Given the description of an element on the screen output the (x, y) to click on. 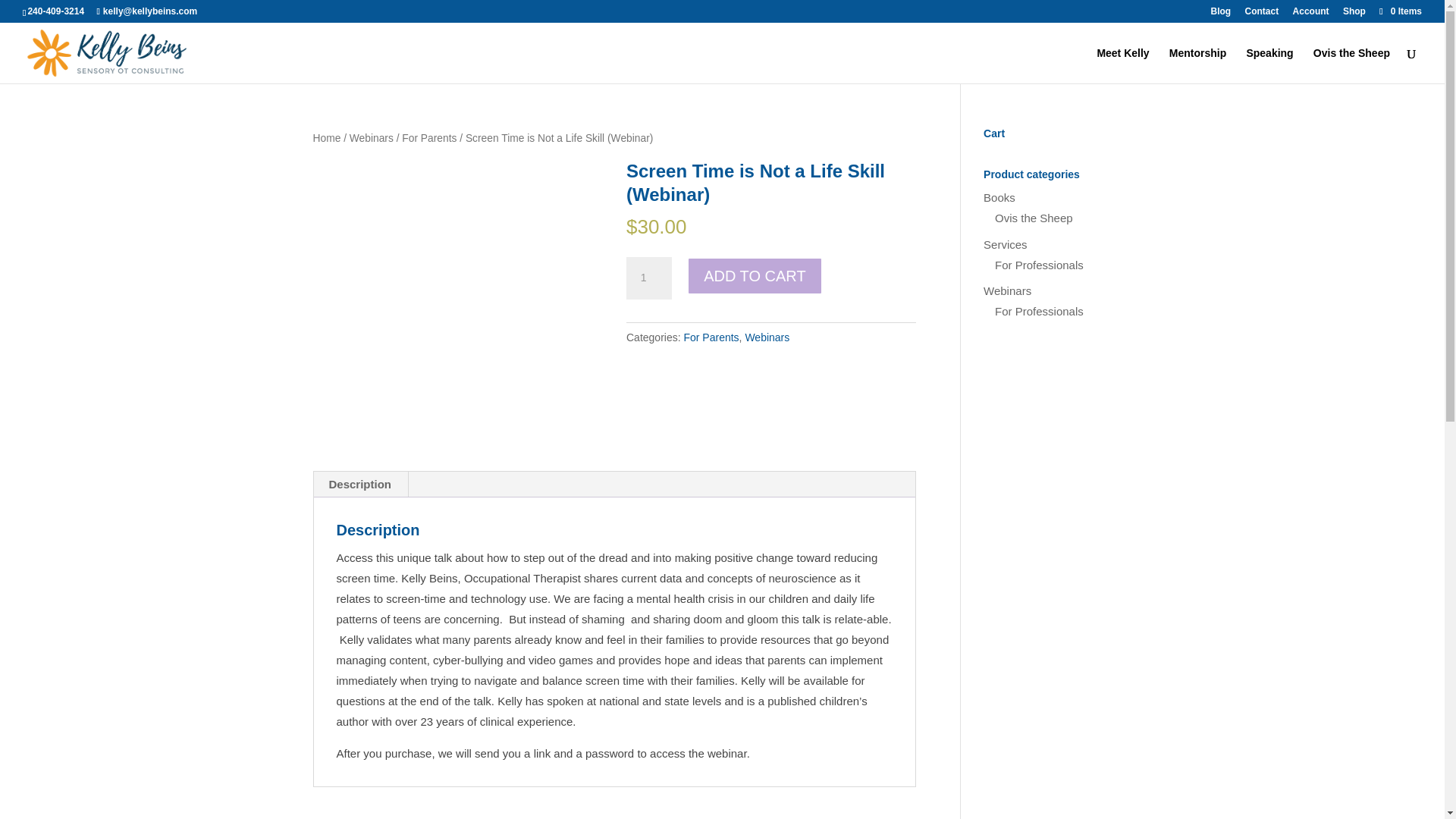
ADD TO CART (754, 275)
0 Items (1399, 10)
For Parents (429, 138)
Speaking (1269, 65)
For Parents (710, 337)
Shop (1353, 14)
Services (1005, 244)
1 (648, 278)
For Professionals (1038, 310)
Webinars (1007, 290)
